Given the description of an element on the screen output the (x, y) to click on. 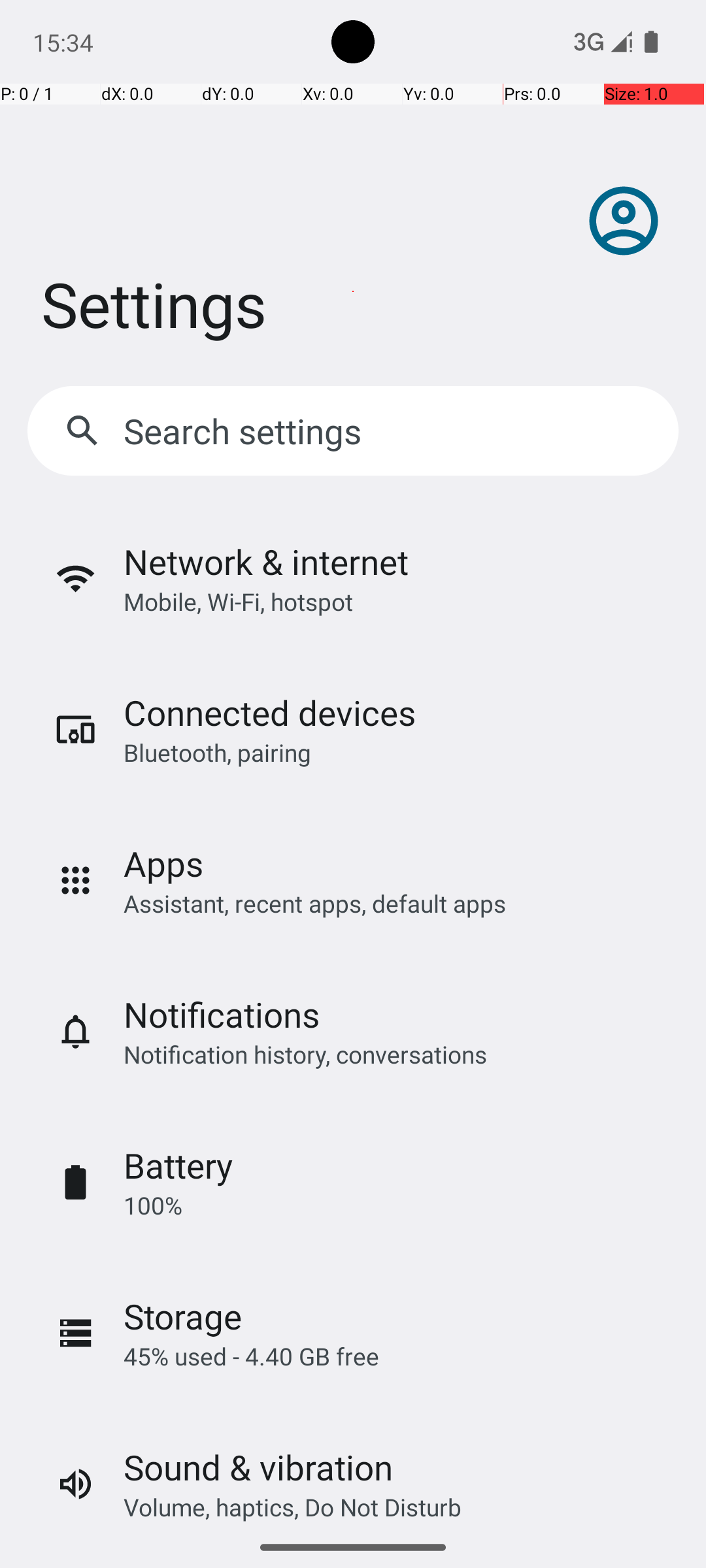
45% used - 4.40 GB free Element type: android.widget.TextView (251, 1355)
